Given the description of an element on the screen output the (x, y) to click on. 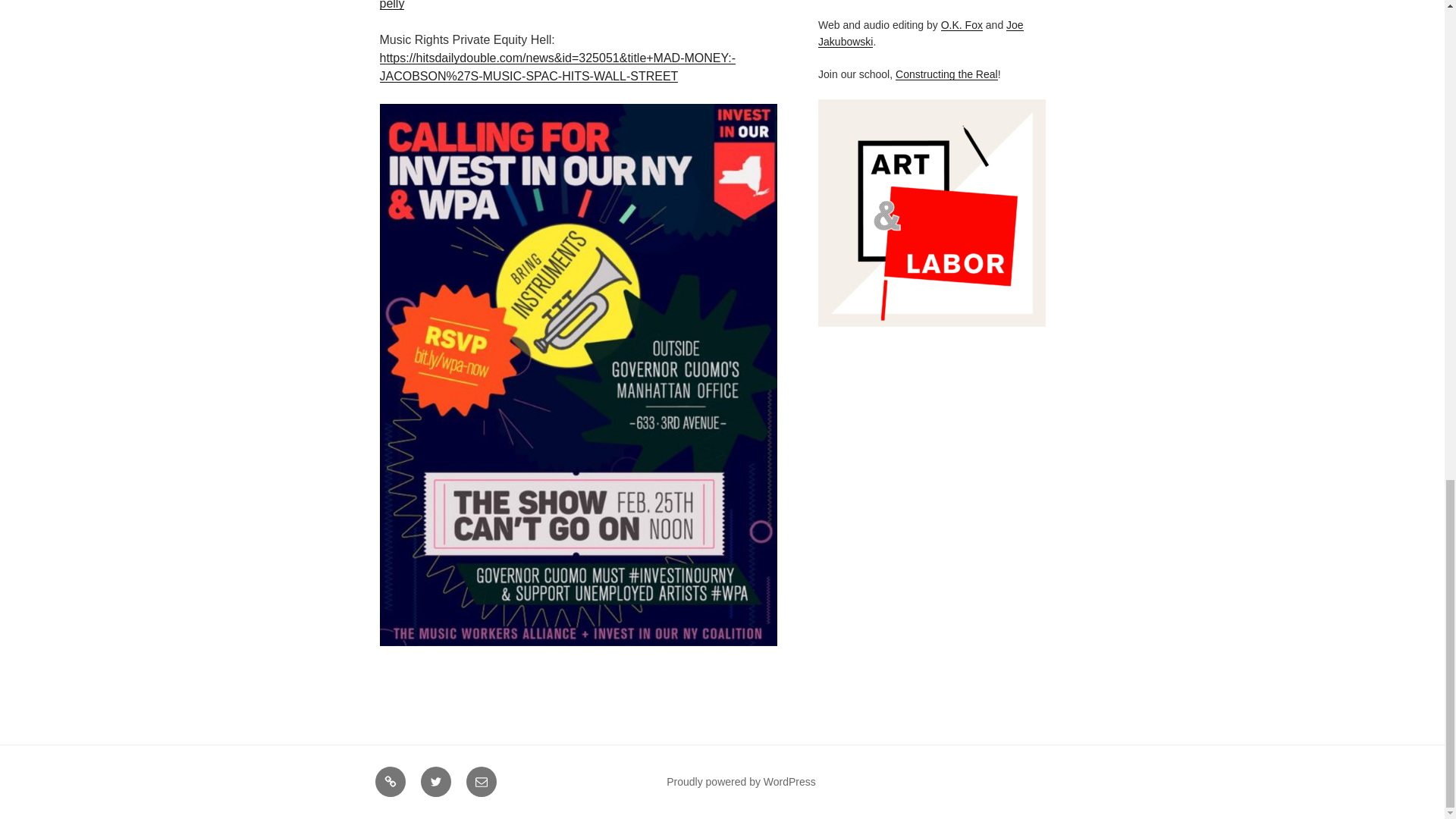
Joe Jakubowski (920, 32)
O.K. Fox (961, 24)
Constructing the Real (946, 73)
